Given the description of an element on the screen output the (x, y) to click on. 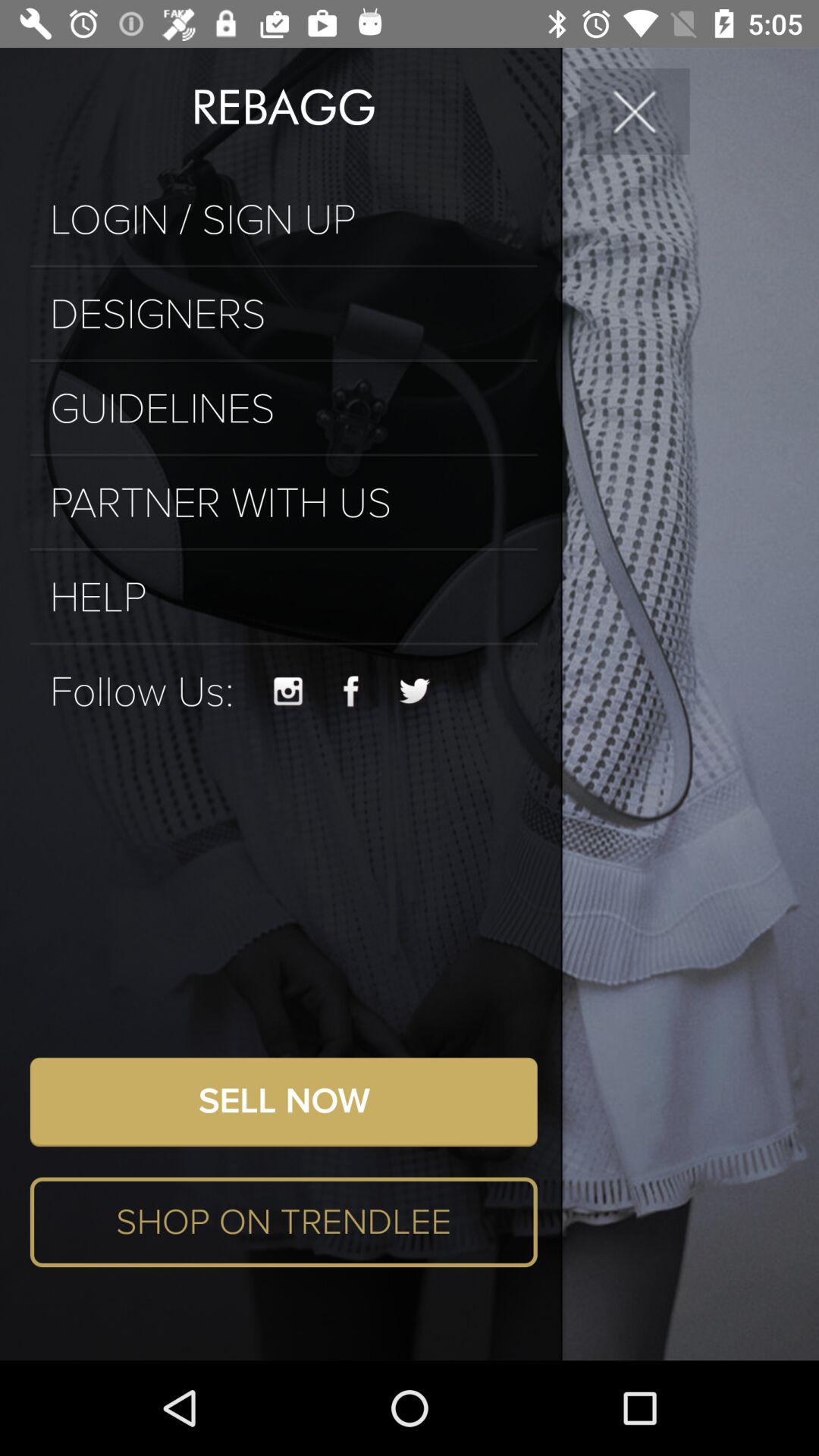
instagram (288, 691)
